Given the description of an element on the screen output the (x, y) to click on. 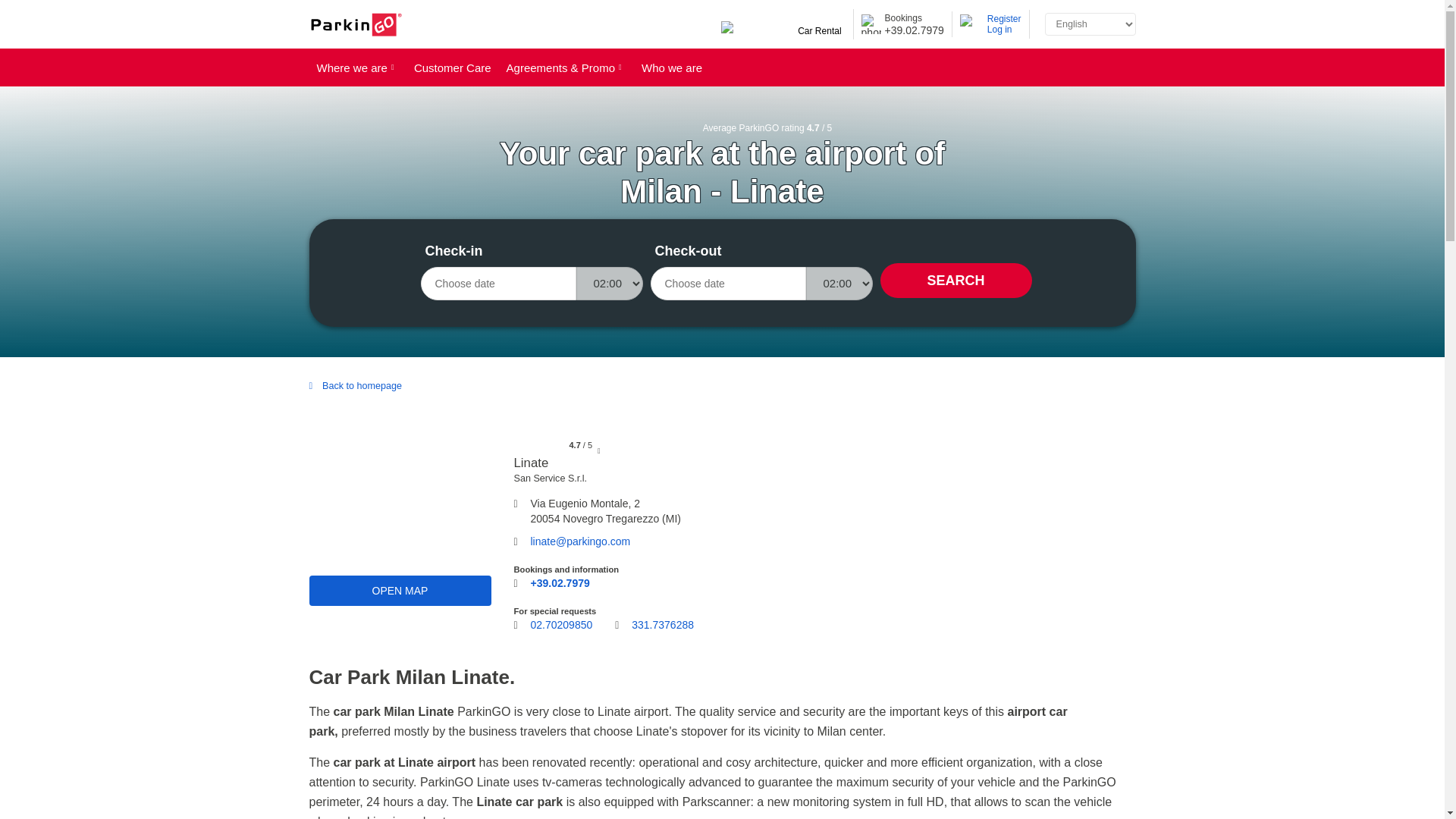
Log in (1004, 29)
Telephone number (662, 629)
Who we are (671, 66)
Register (1004, 18)
Search (954, 280)
Maps (400, 590)
email (580, 541)
Customer Care (452, 66)
Car Rental (782, 30)
Telephone number (561, 625)
